Given the description of an element on the screen output the (x, y) to click on. 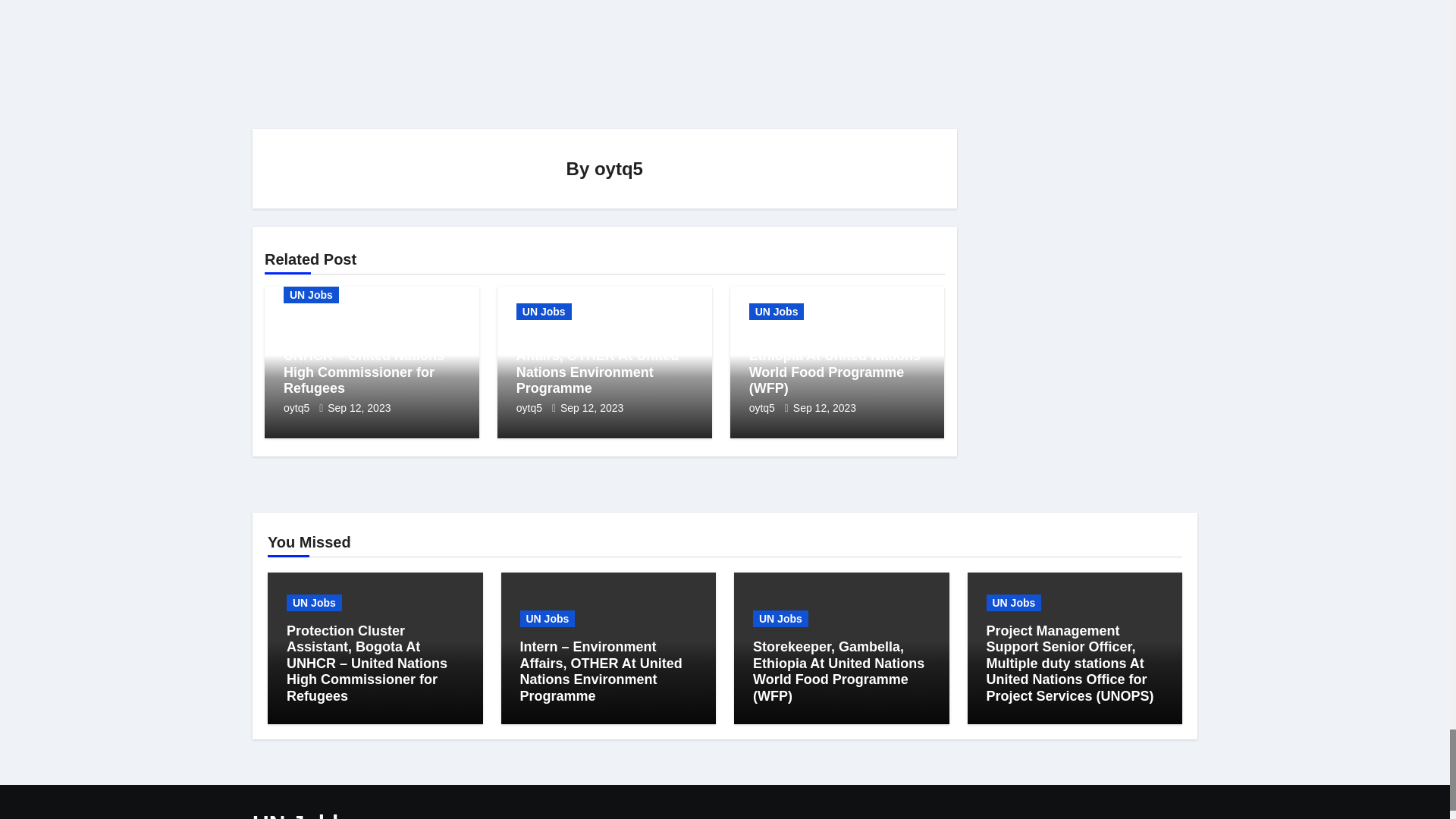
oytq5 (530, 408)
oytq5 (618, 168)
oytq5 (298, 408)
Sep 12, 2023 (591, 408)
UN Jobs (311, 294)
UN Jobs (777, 311)
Sep 12, 2023 (358, 408)
UN Jobs (544, 311)
